Given the description of an element on the screen output the (x, y) to click on. 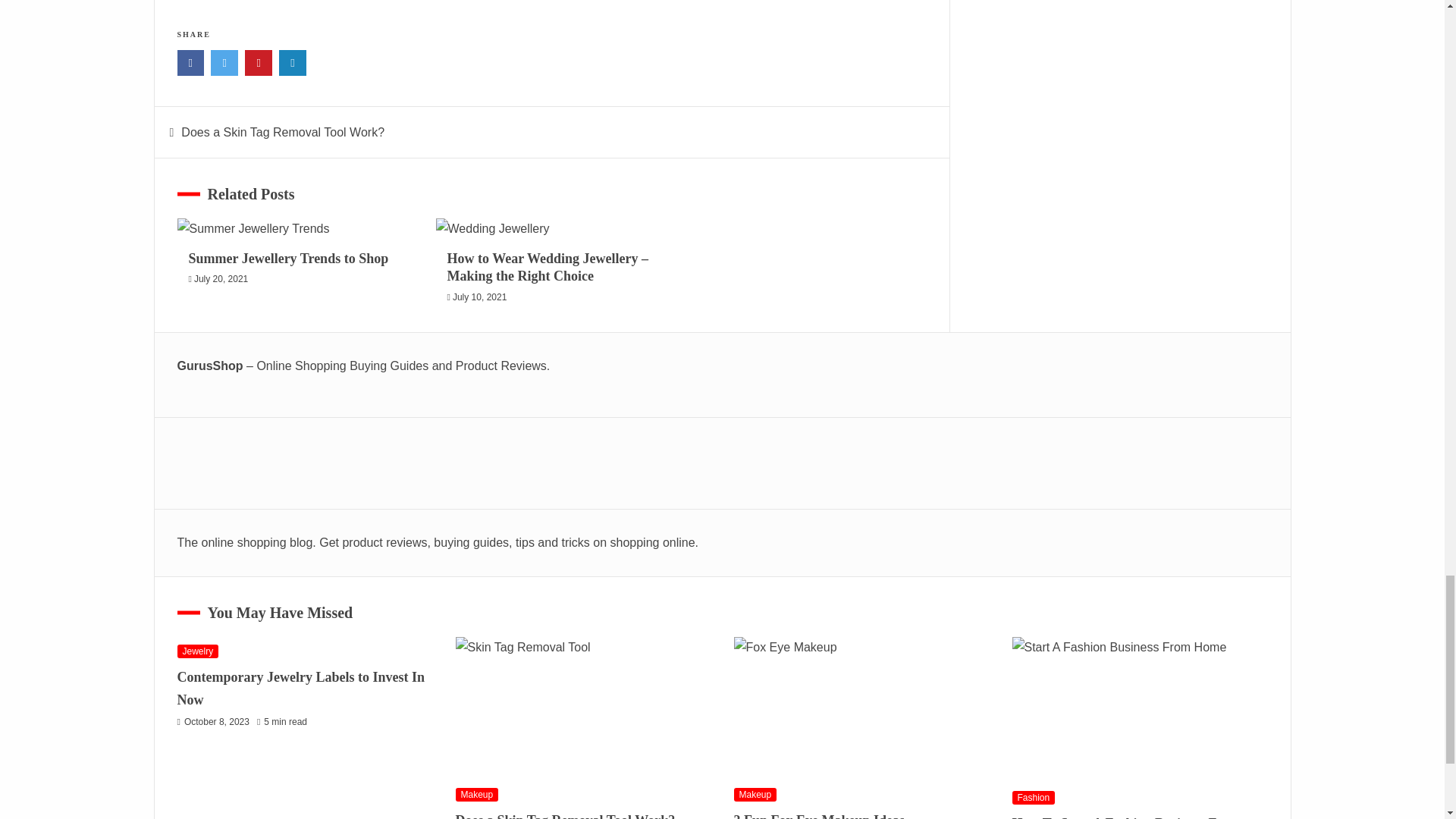
Summer Jewellery Trends to Shop (287, 258)
July 10, 2021 (479, 296)
July 20, 2021 (220, 278)
Does a Skin Tag Removal Tool Work? (282, 132)
